Given the description of an element on the screen output the (x, y) to click on. 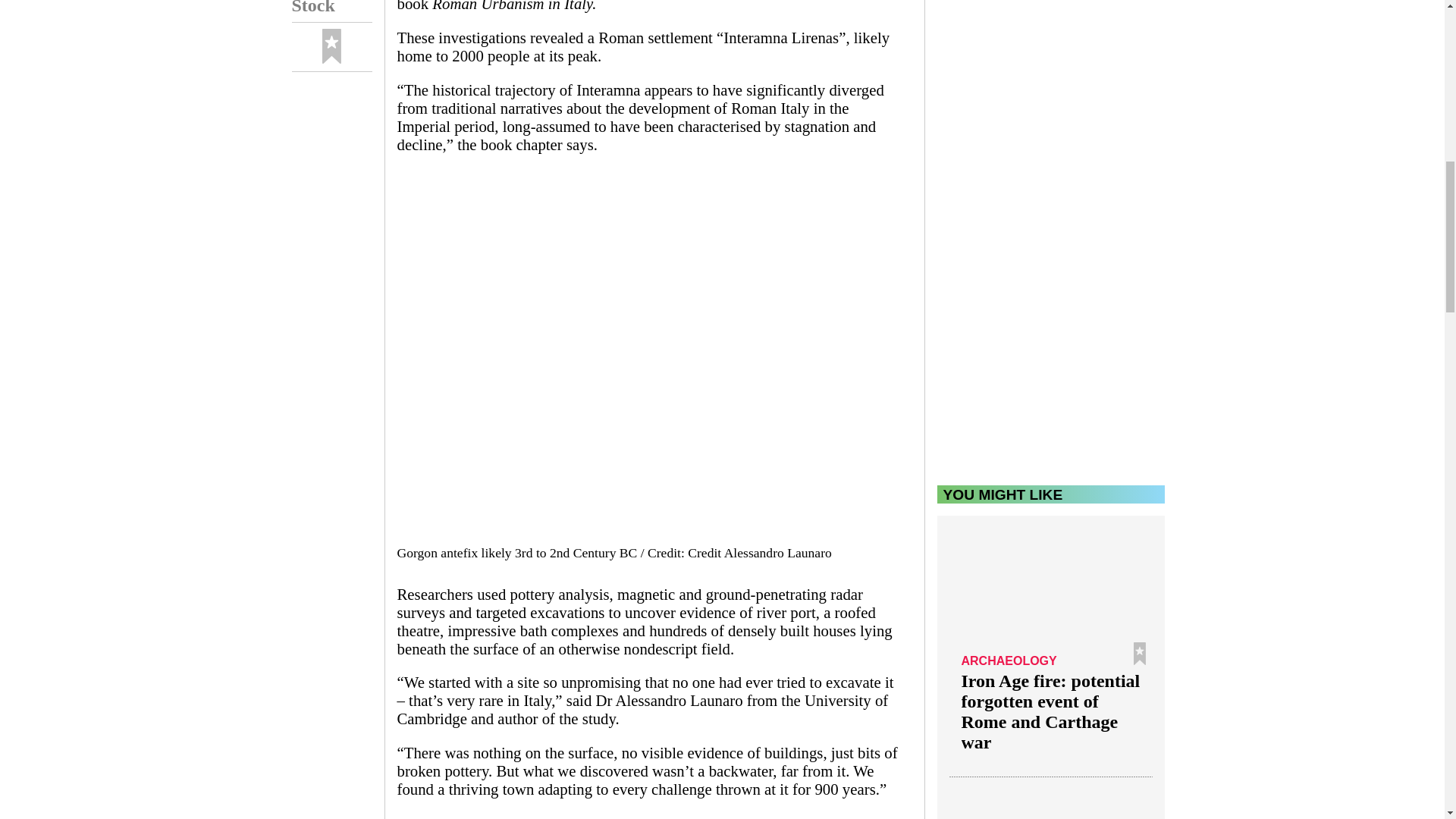
Petra Stock (331, 11)
